Given the description of an element on the screen output the (x, y) to click on. 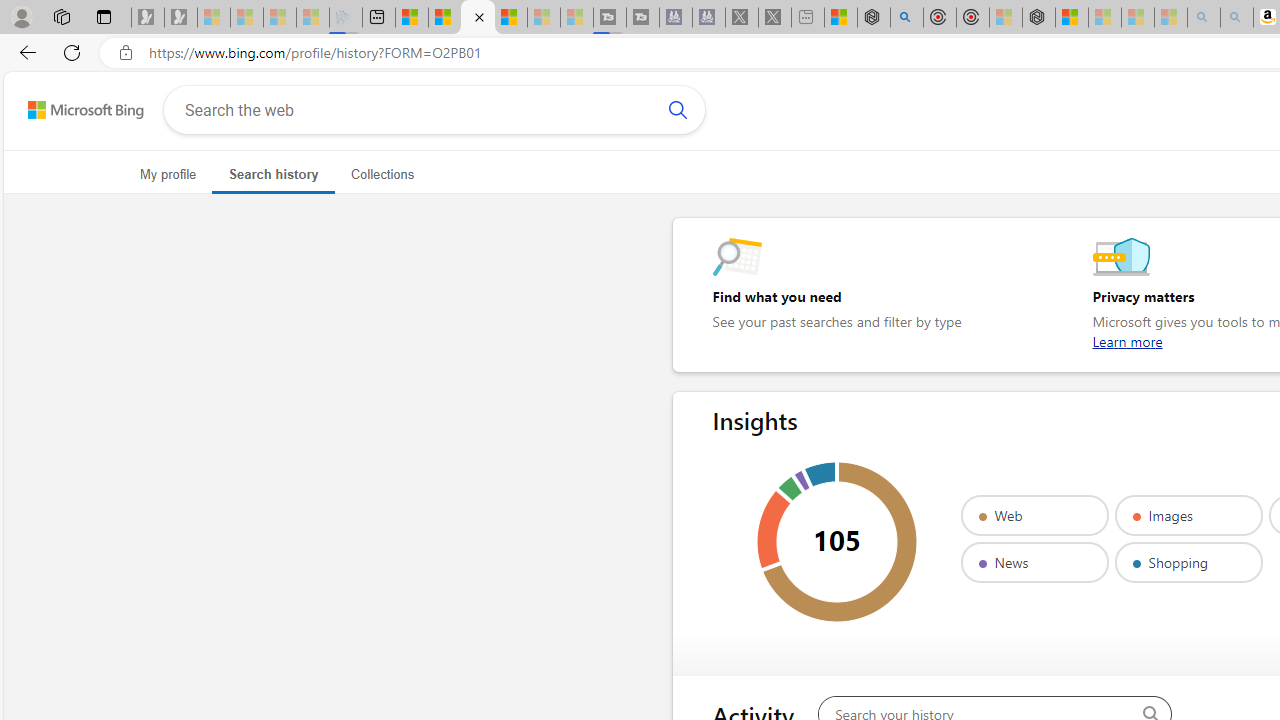
poe - Search (906, 17)
Search history (272, 174)
amazon - Search - Sleeping (1203, 17)
Shopping (1188, 562)
Microsoft Start - Sleeping (543, 17)
Newsletter Sign Up - Sleeping (181, 17)
Nordace - Nordace Siena Is Not An Ordinary Backpack (1038, 17)
